Given the description of an element on the screen output the (x, y) to click on. 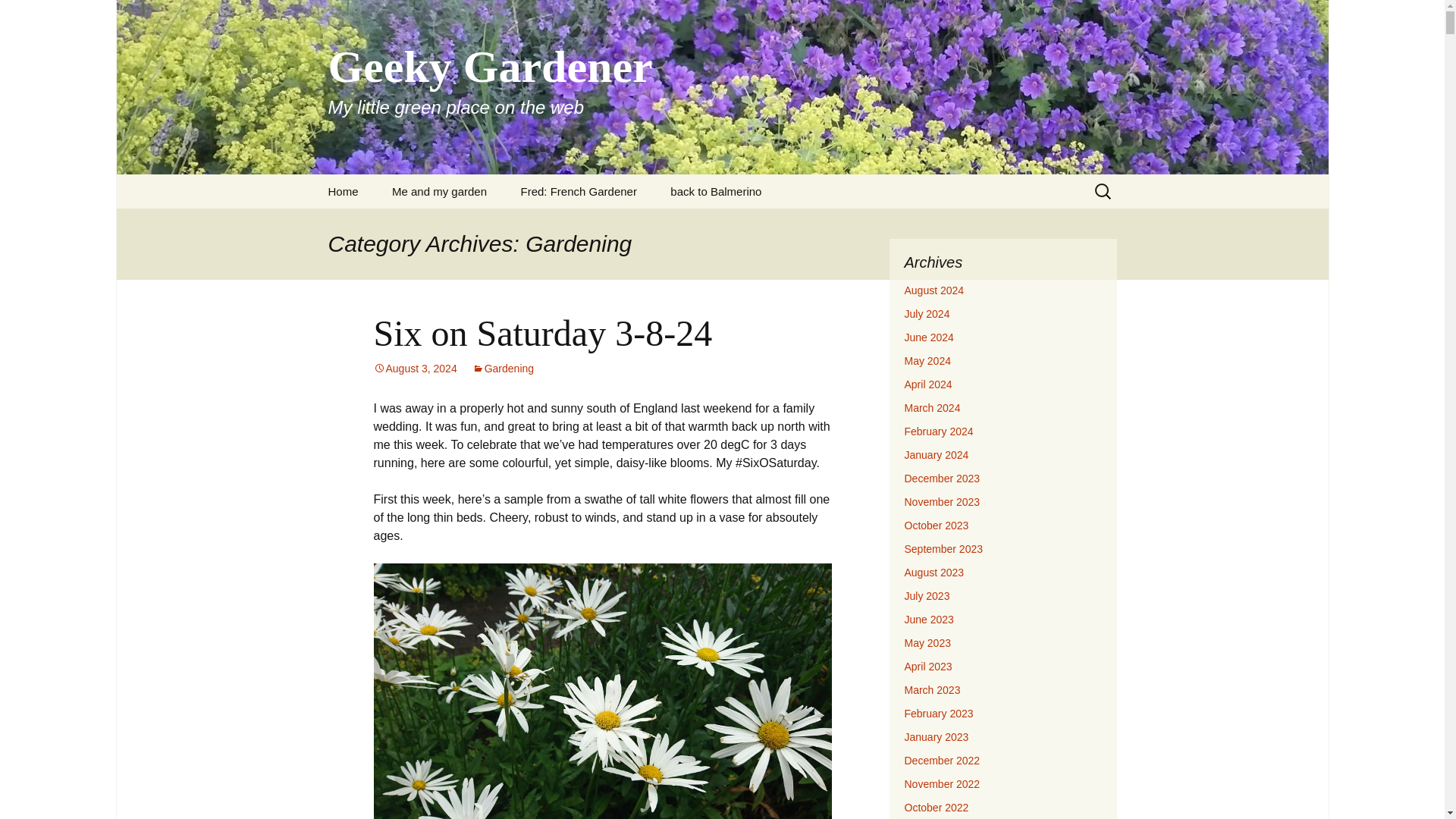
Gardening (502, 368)
Search (342, 191)
August 3, 2024 (18, 15)
Geeky Gardener (414, 368)
Six on Saturday 3-8-24 (439, 191)
back to Balmerino (541, 332)
Fred: French Gardener (715, 191)
Permalink to Six on Saturday 3-8-24 (577, 191)
